Given the description of an element on the screen output the (x, y) to click on. 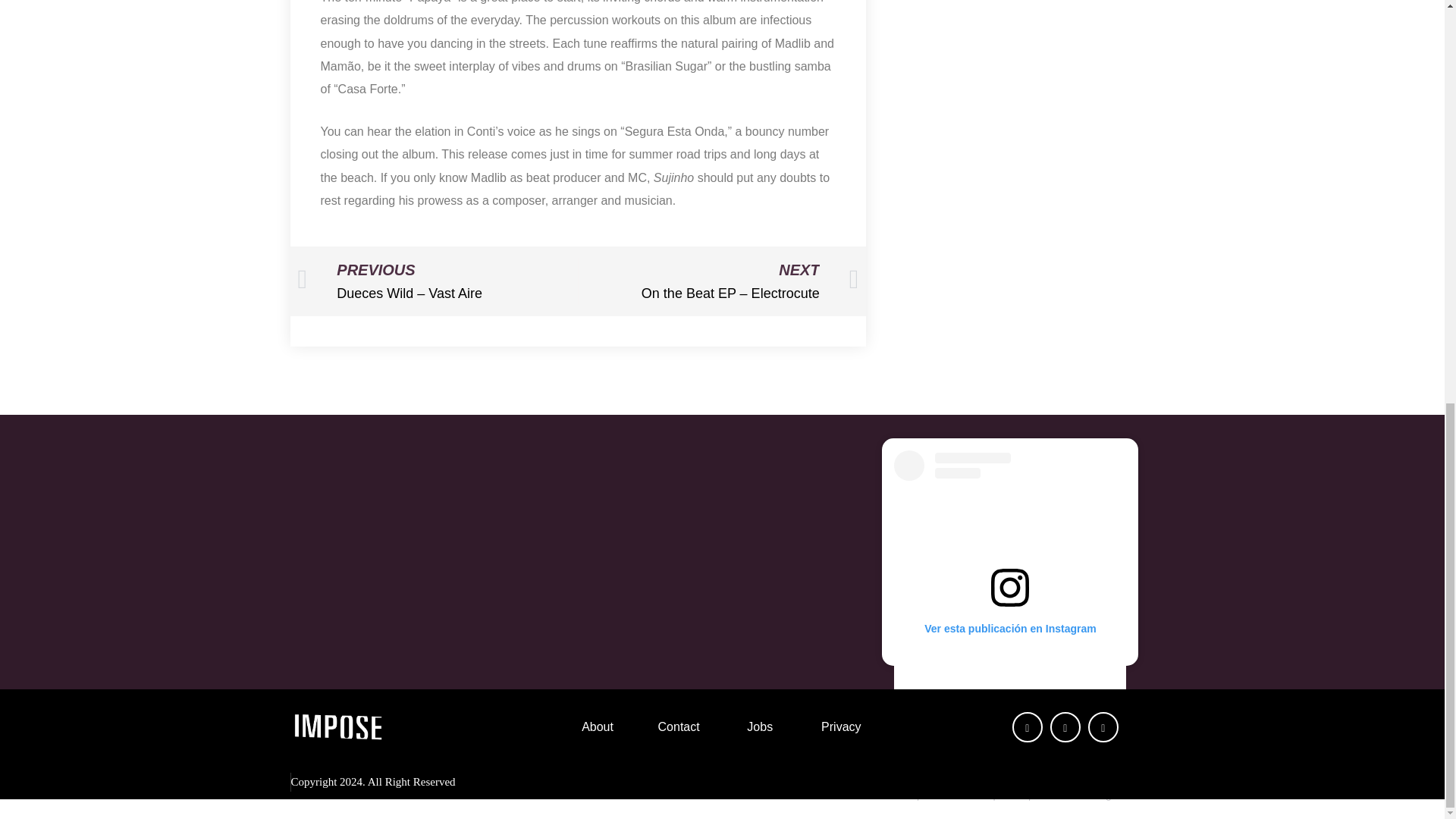
Twitter Timeline (721, 551)
